Given the description of an element on the screen output the (x, y) to click on. 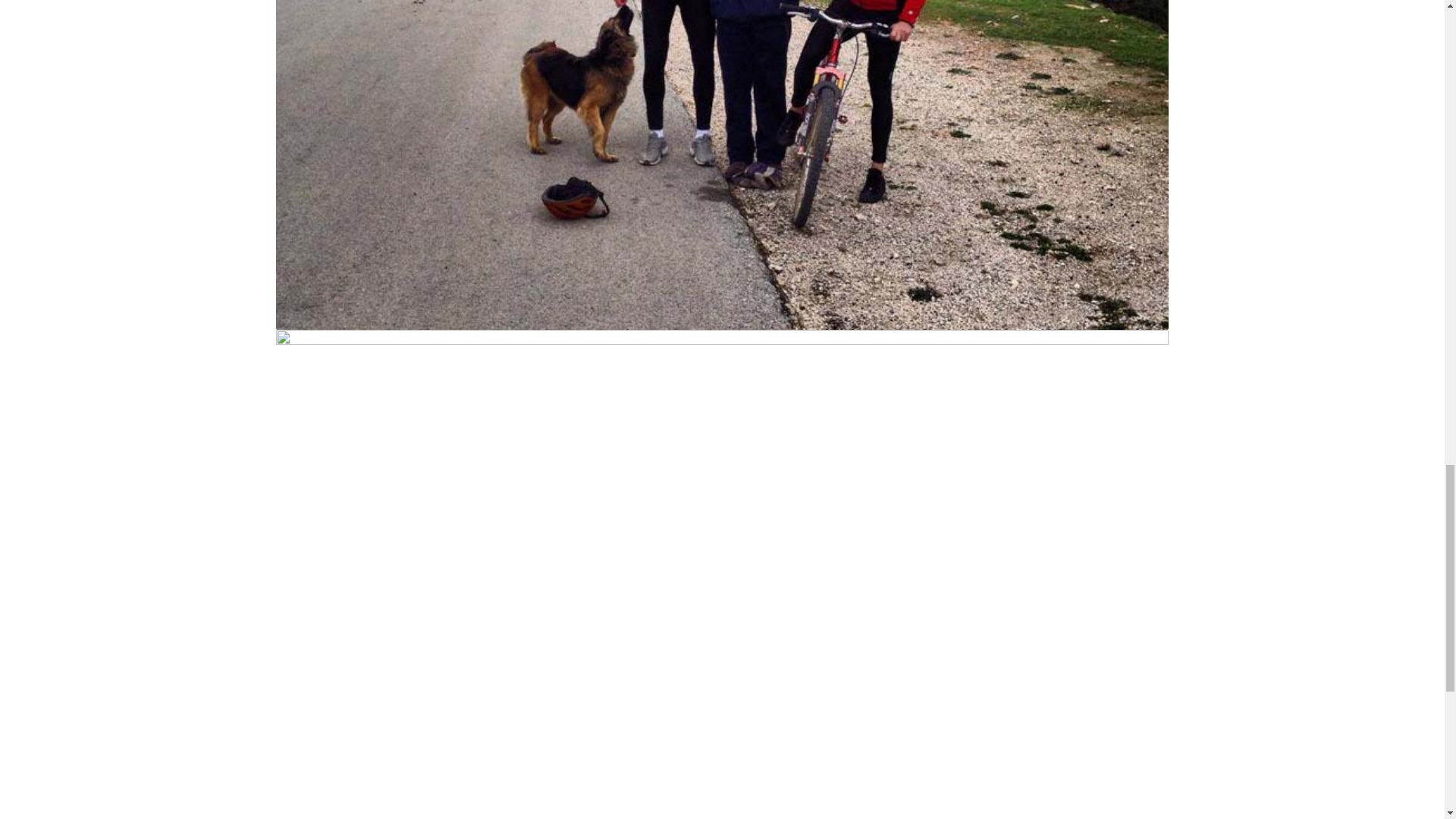
biking-1 (721, 663)
